Given the description of an element on the screen output the (x, y) to click on. 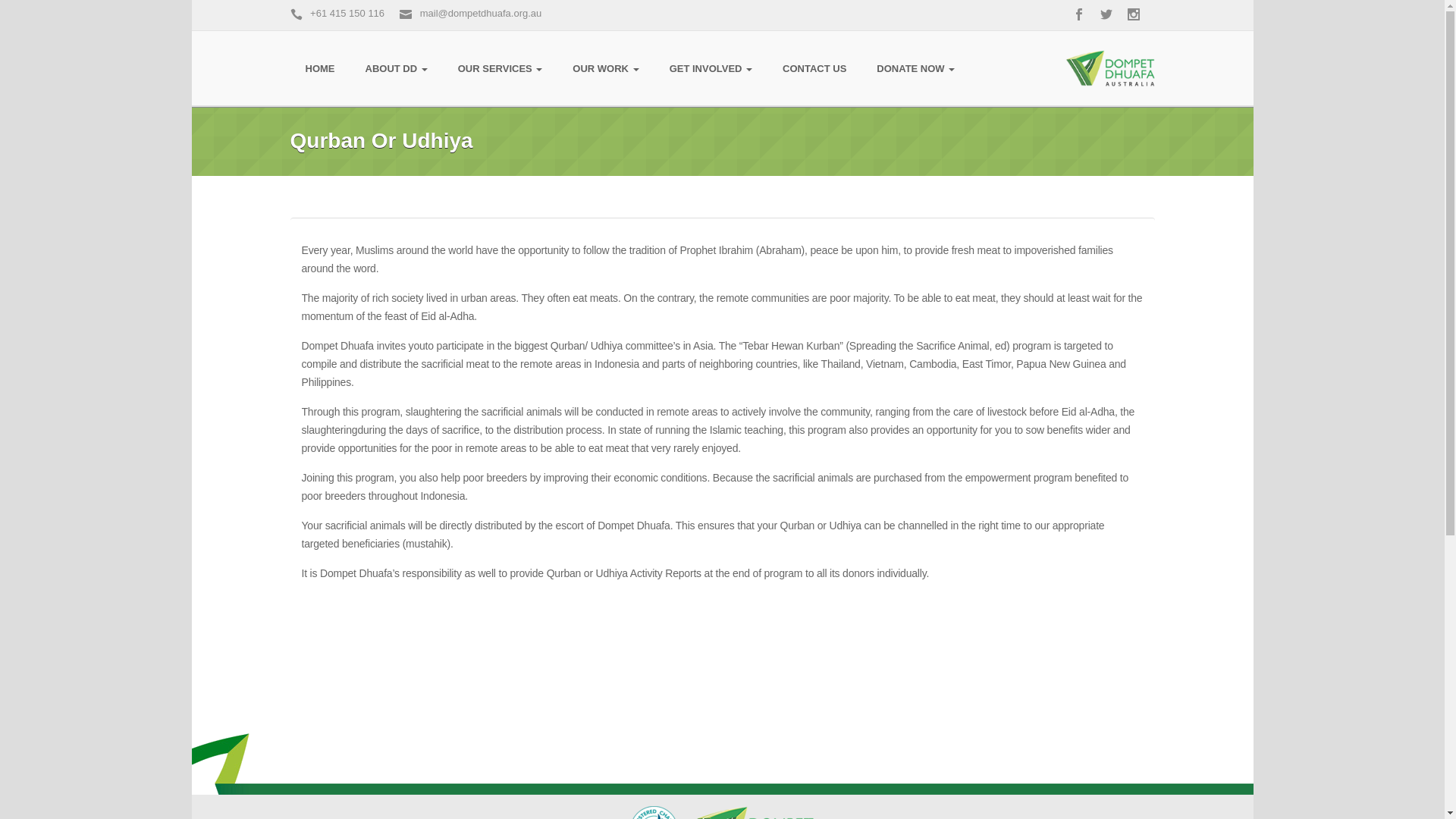
+61 415 150 116 Element type: text (336, 12)
OUR SERVICES Element type: text (500, 68)
DONATE NOW Element type: text (915, 68)
Dompet Dhuafa Australia Element type: hover (1109, 68)
OUR WORK Element type: text (605, 68)
GET INVOLVED Element type: text (710, 68)
HOME Element type: text (320, 68)
mail@dompetdhuafa.org.au Element type: text (470, 12)
ABOUT DD Element type: text (395, 68)
CONTACT US Element type: text (814, 68)
